Given the description of an element on the screen output the (x, y) to click on. 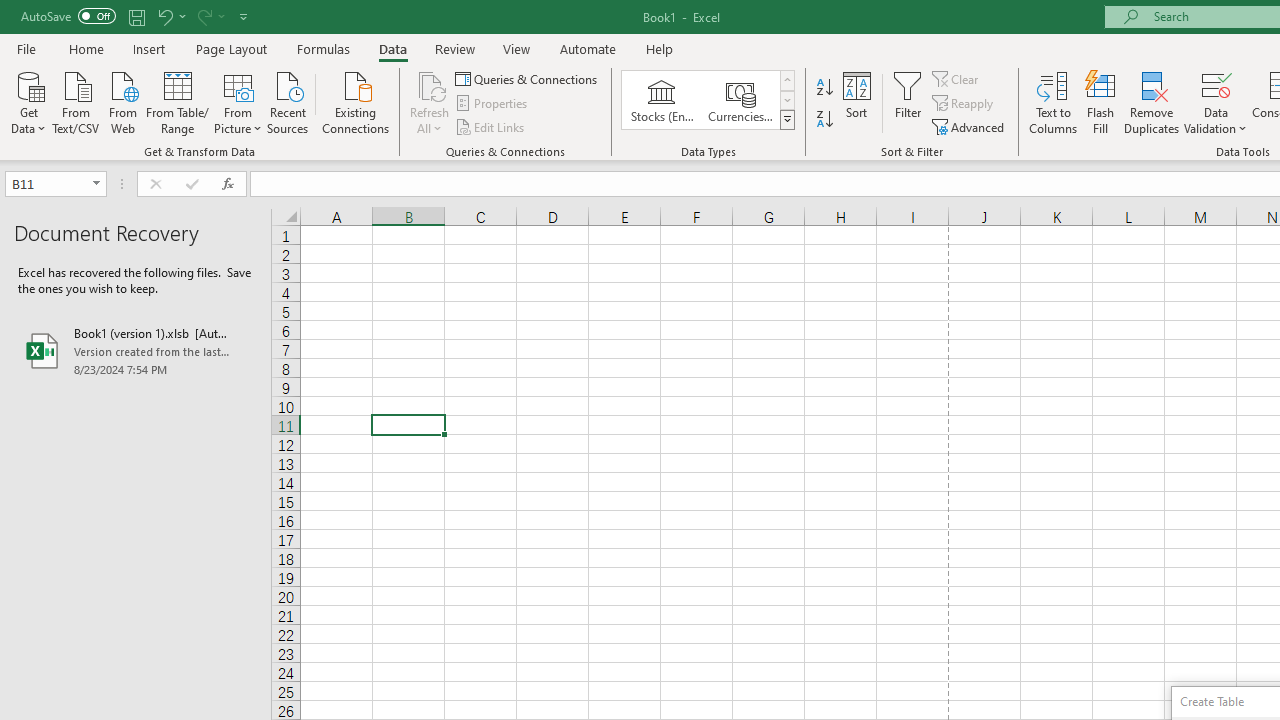
Existing Connections (355, 101)
Reapply (964, 103)
Recent Sources (287, 101)
Advanced... (970, 126)
From Table/Range (177, 101)
Filter (908, 102)
Sort Z to A (824, 119)
Remove Duplicates (1151, 102)
